Given the description of an element on the screen output the (x, y) to click on. 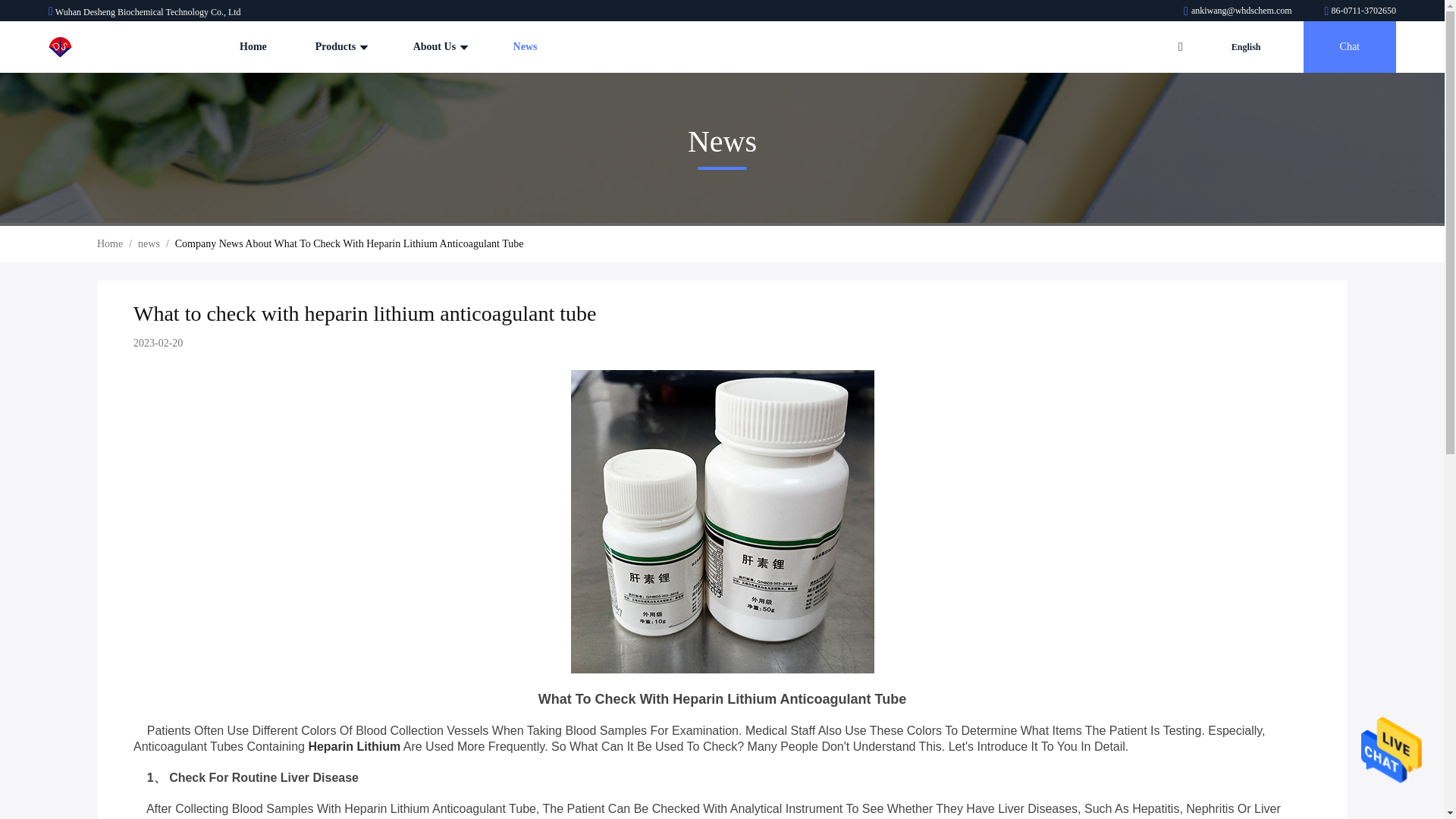
Products (340, 46)
86-0711-3702650 (1360, 9)
Products (340, 46)
Chat (1349, 46)
Wuhan Desheng Biochemical Technology Co., Ltd (96, 46)
About Us (438, 46)
Wuhan Desheng Biochemical Technology Co., Ltd (1360, 9)
Wuhan Desheng Biochemical Technology Co., Ltd (1238, 9)
About Us (438, 46)
